Given the description of an element on the screen output the (x, y) to click on. 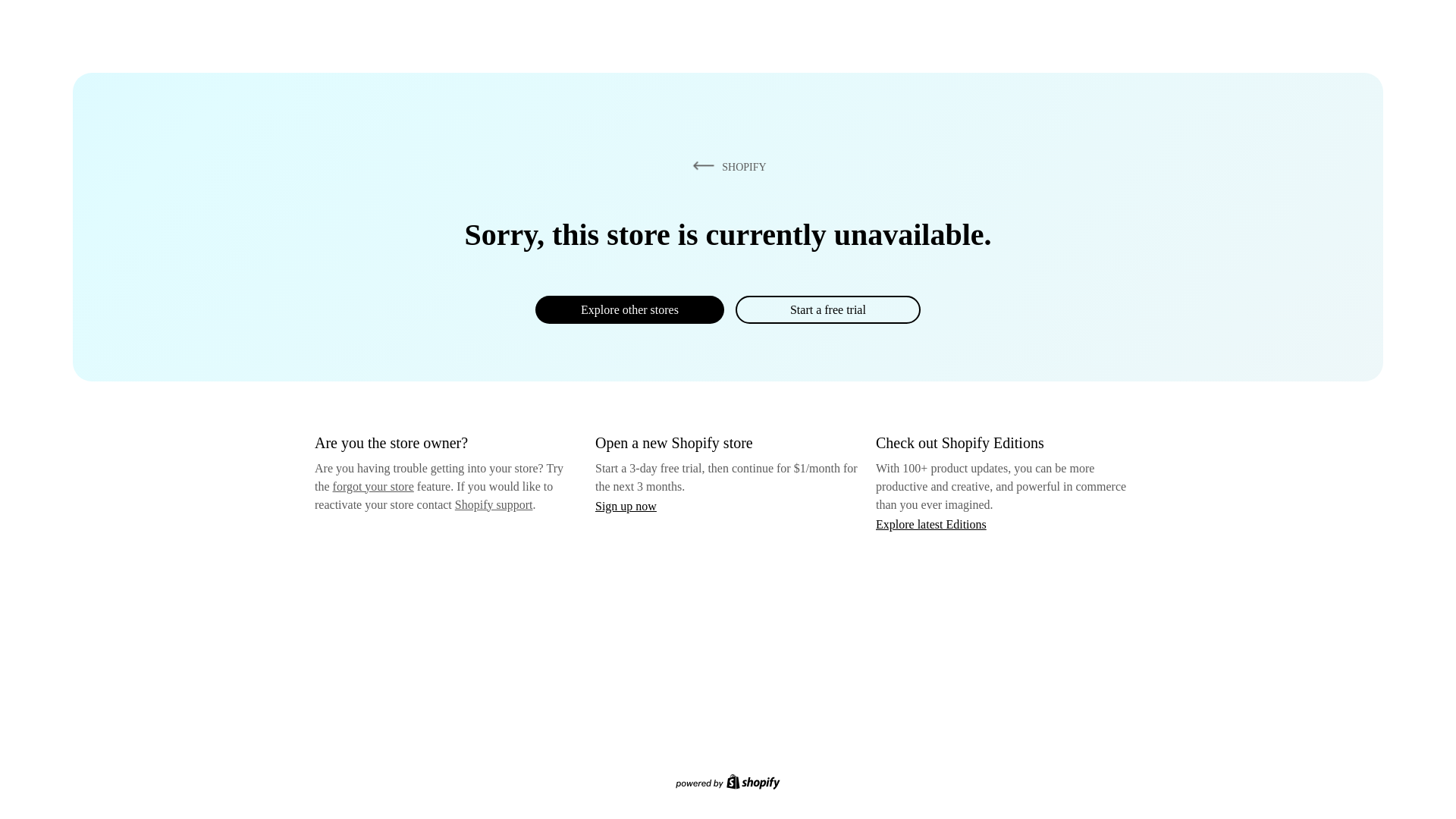
Start a free trial (827, 309)
Explore other stores (629, 309)
forgot your store (373, 486)
Sign up now (625, 505)
Explore latest Editions (931, 523)
Shopify support (493, 504)
SHOPIFY (726, 166)
